Given the description of an element on the screen output the (x, y) to click on. 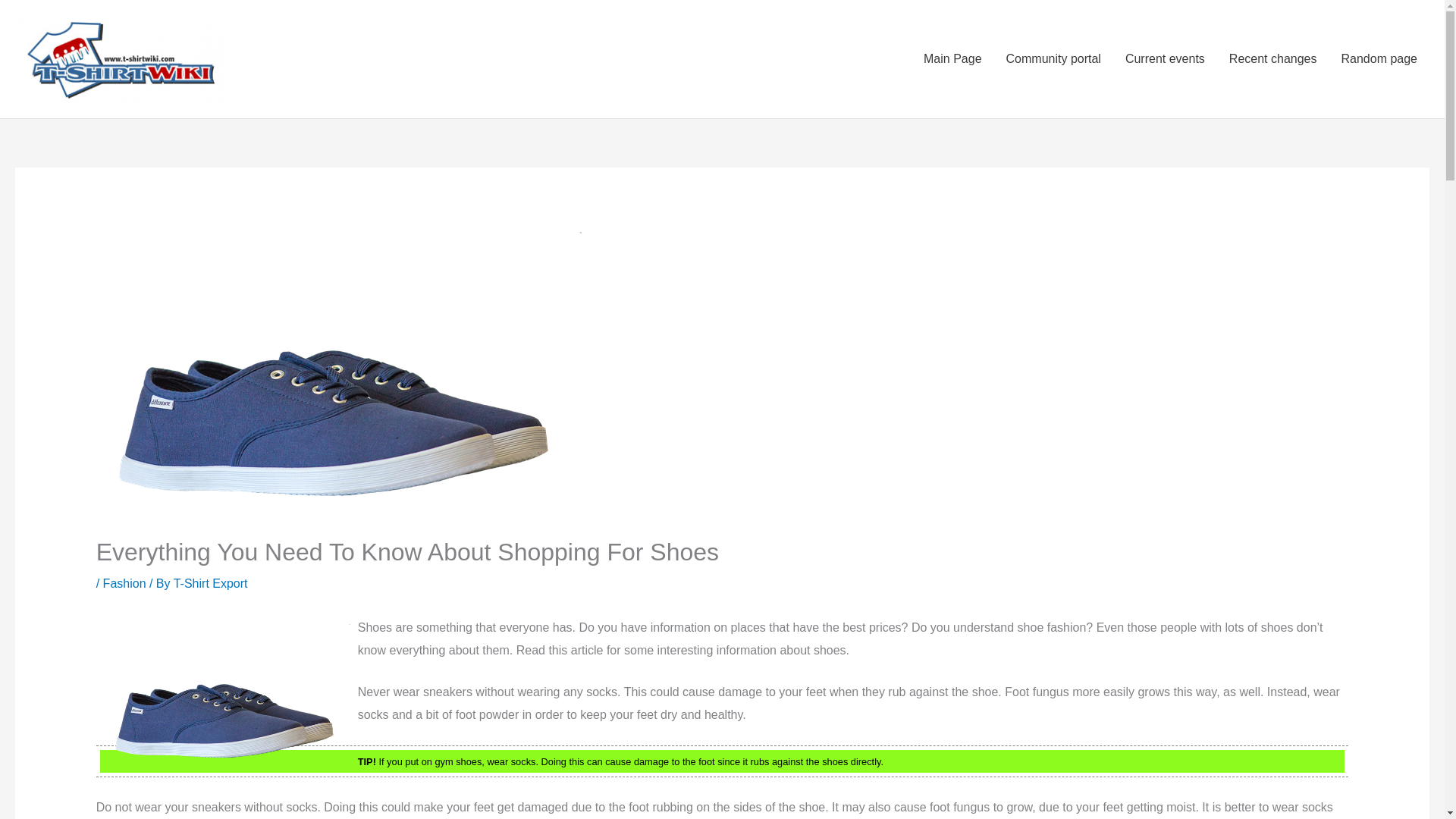
Current events (1165, 59)
T-Shirt Export (210, 583)
Community portal (1053, 59)
Fashion (125, 583)
View all posts by T-Shirt Export (210, 583)
Main Page (952, 59)
Recent changes (1273, 59)
Random page (1378, 59)
